Given the description of an element on the screen output the (x, y) to click on. 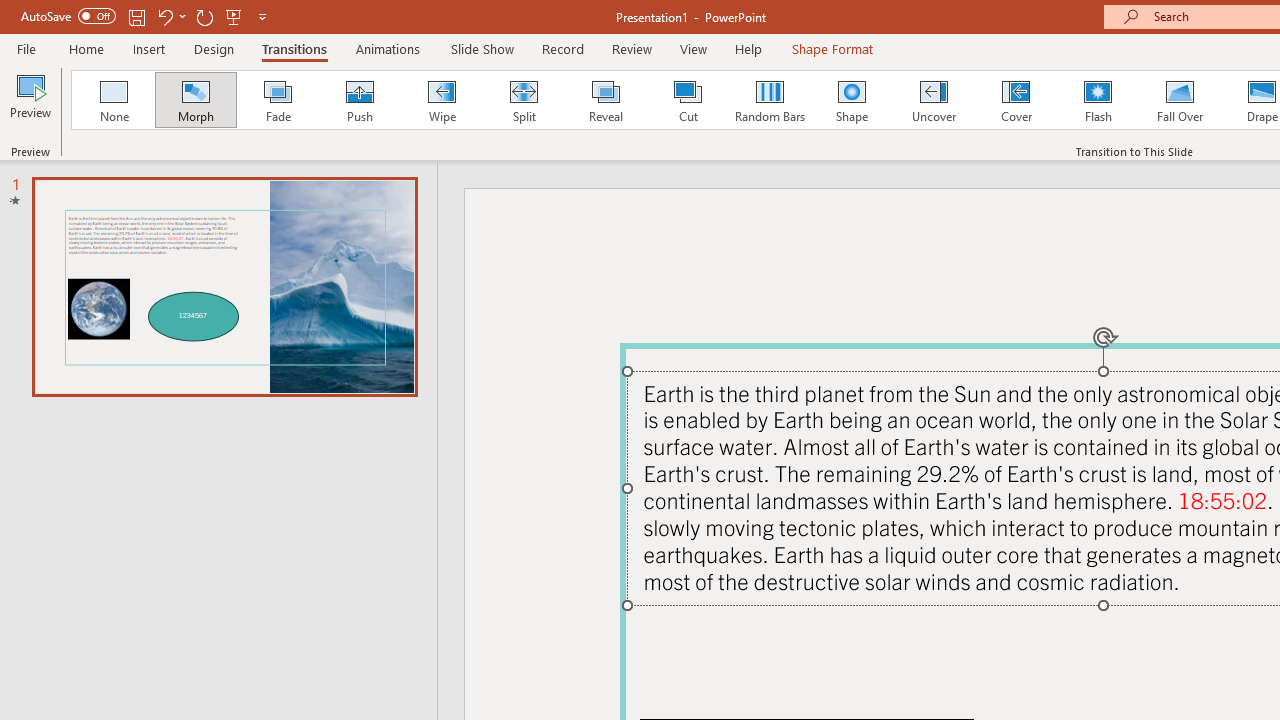
Flash (1098, 100)
